Given the description of an element on the screen output the (x, y) to click on. 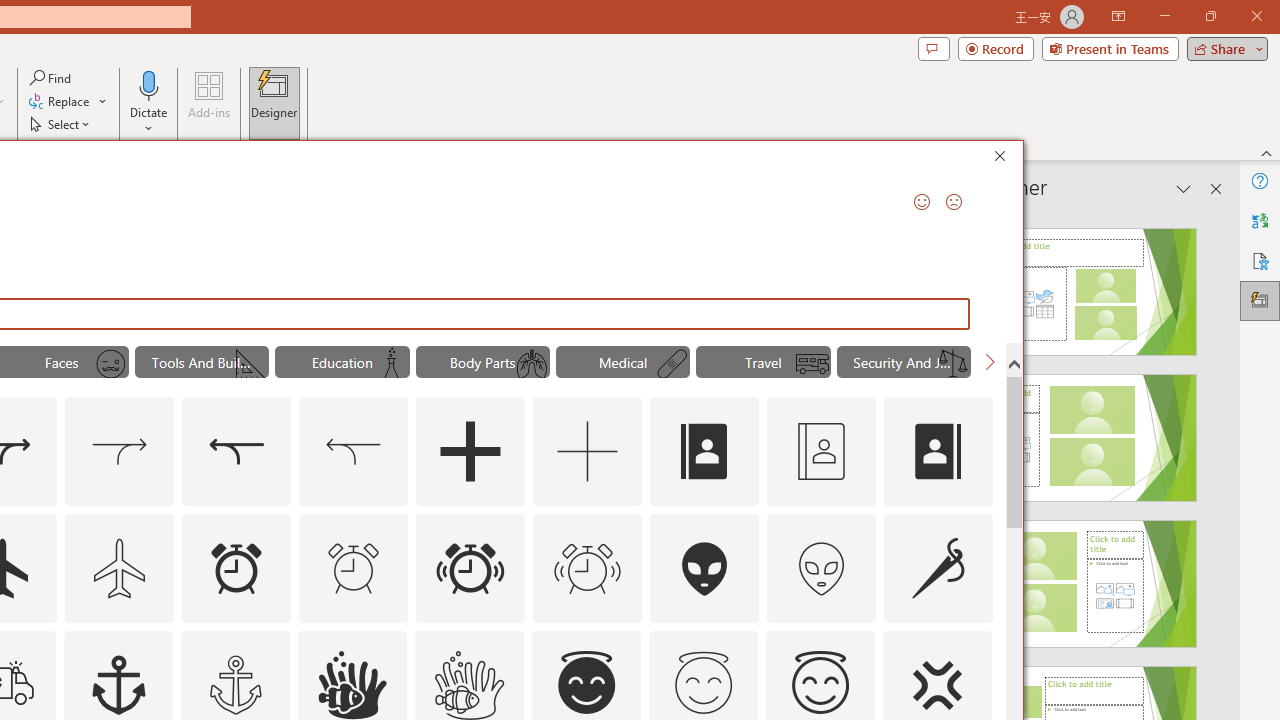
AutomationID: Icons_Rv_M (812, 364)
AutomationID: Icons_WeightsUneven1_M (952, 364)
AutomationID: Icons_AlarmRinging_M (587, 568)
Send a Frown (954, 201)
AutomationID: Icons_Lungs_M (532, 364)
AutomationID: Icons_TriangleRuler_M (250, 364)
AutomationID: Icons_Acquisition_RTL_M (353, 452)
"Body Parts" Icons. (483, 362)
